Given the description of an element on the screen output the (x, y) to click on. 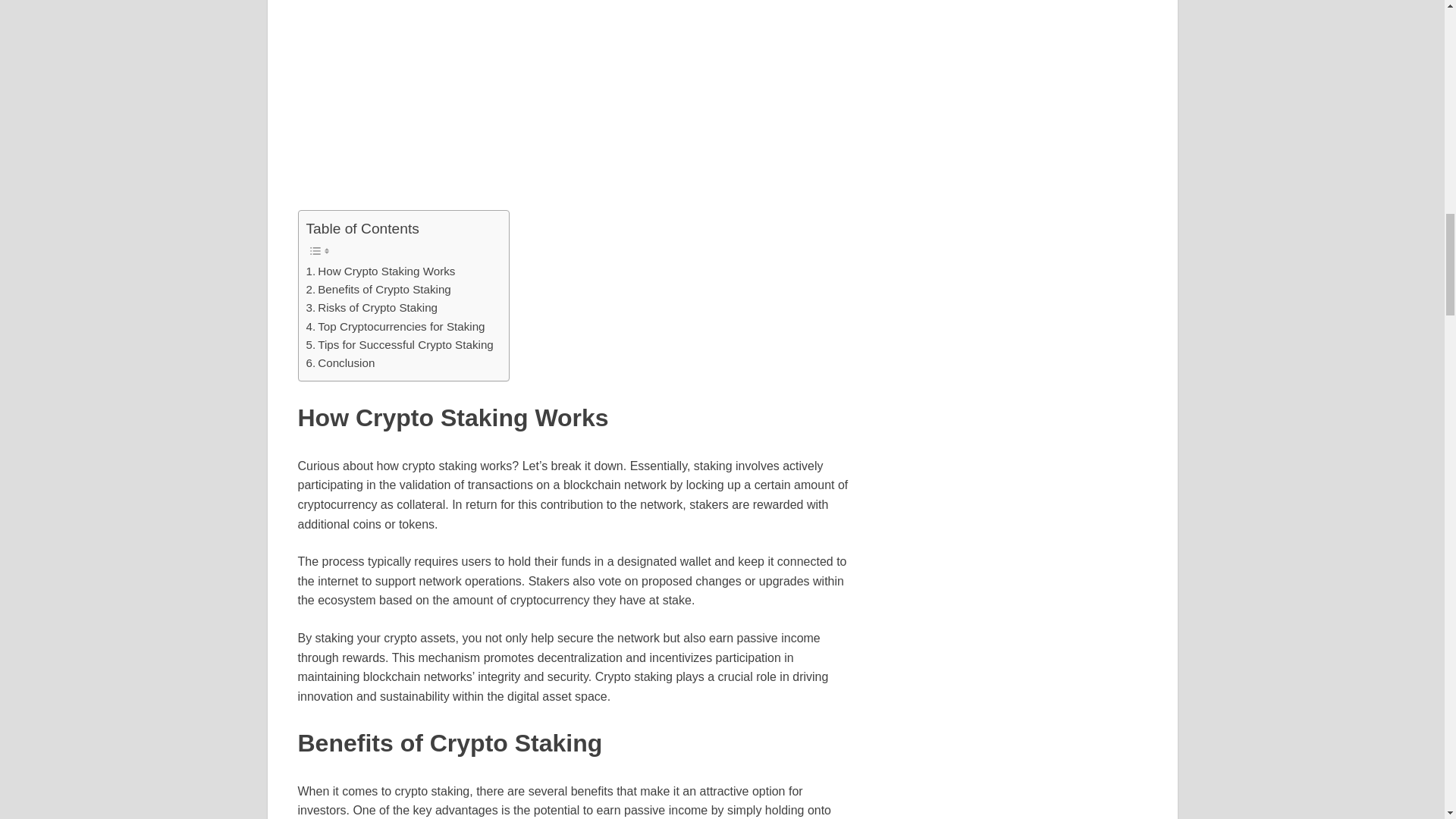
How Crypto Staking Works (380, 271)
Risks of Crypto Staking (371, 307)
Top Cryptocurrencies for Staking (394, 326)
Conclusion (340, 362)
Risks of Crypto Staking (371, 307)
Benefits of Crypto Staking (378, 289)
Benefits of Crypto Staking (378, 289)
Tips for Successful Crypto Staking (399, 344)
Conclusion (340, 362)
How Crypto Staking Works (380, 271)
Top Cryptocurrencies for Staking (394, 326)
Tips for Successful Crypto Staking (399, 344)
